Given the description of an element on the screen output the (x, y) to click on. 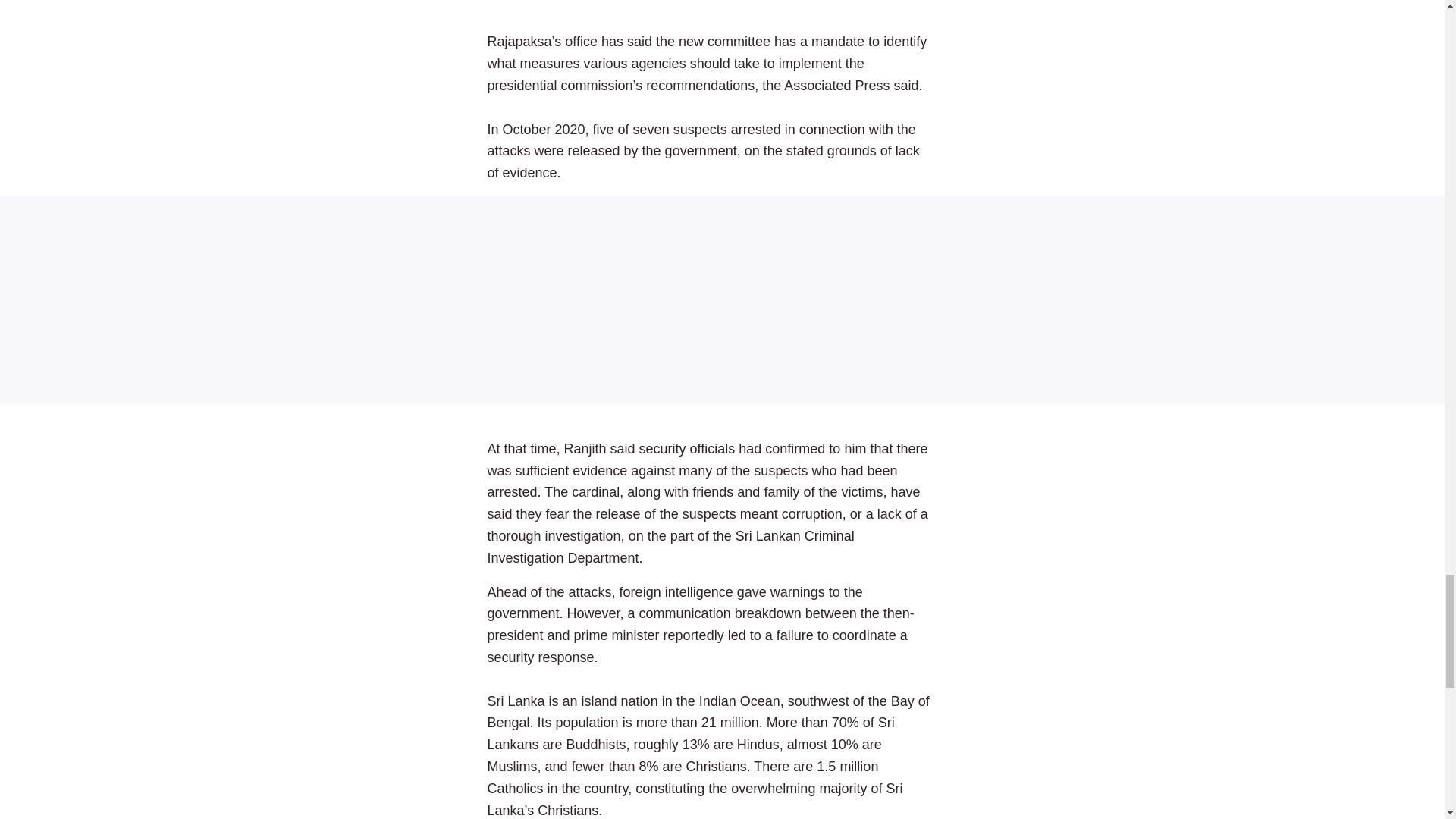
3rd party ad content (721, 299)
